Given the description of an element on the screen output the (x, y) to click on. 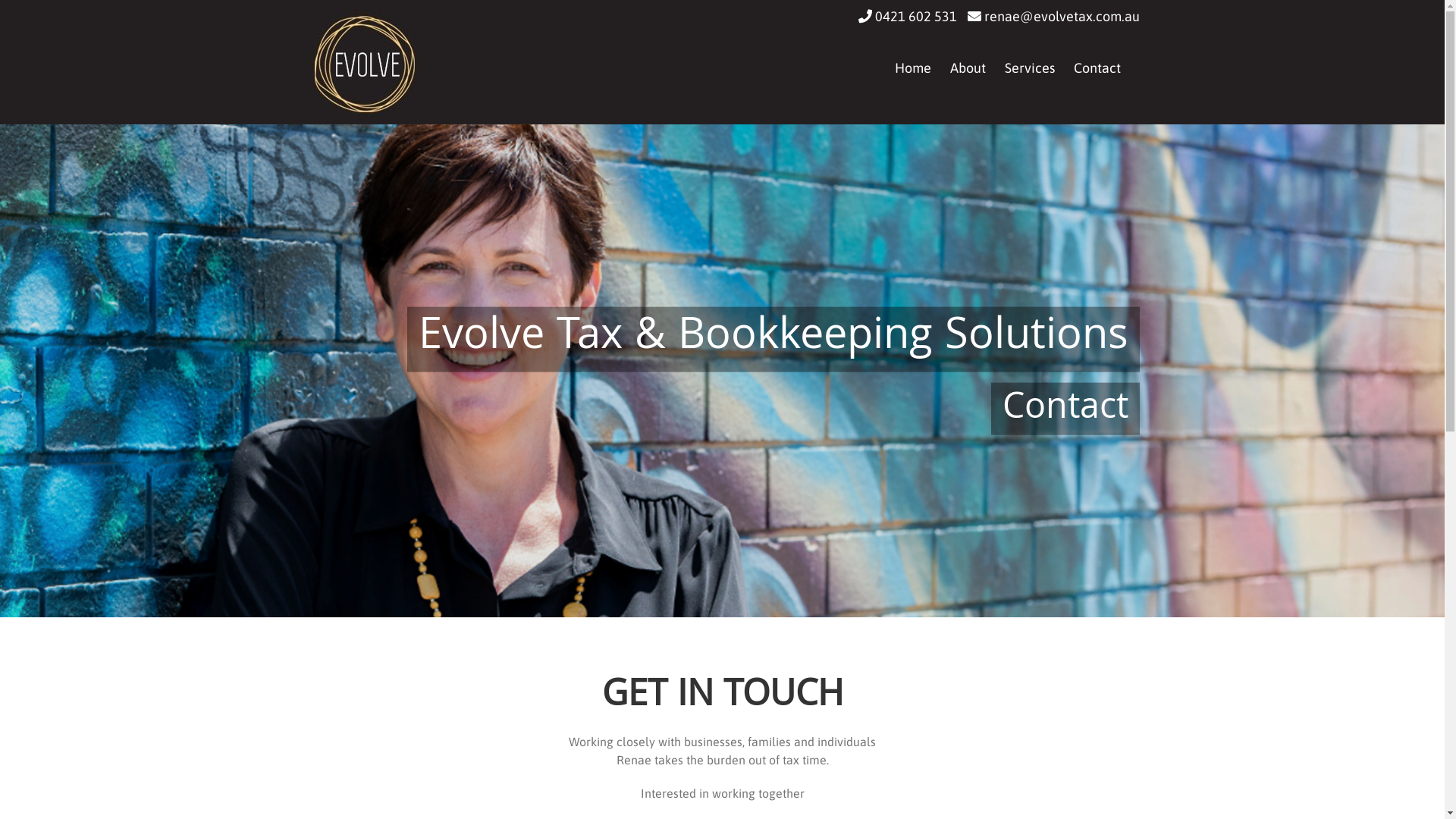
renae@evolvetax.com.au Element type: text (1061, 16)
About Element type: text (967, 68)
Services Element type: text (1029, 68)
Contact Element type: text (1096, 68)
0421 602 531 Element type: text (914, 16)
Home Element type: text (912, 68)
